Given the description of an element on the screen output the (x, y) to click on. 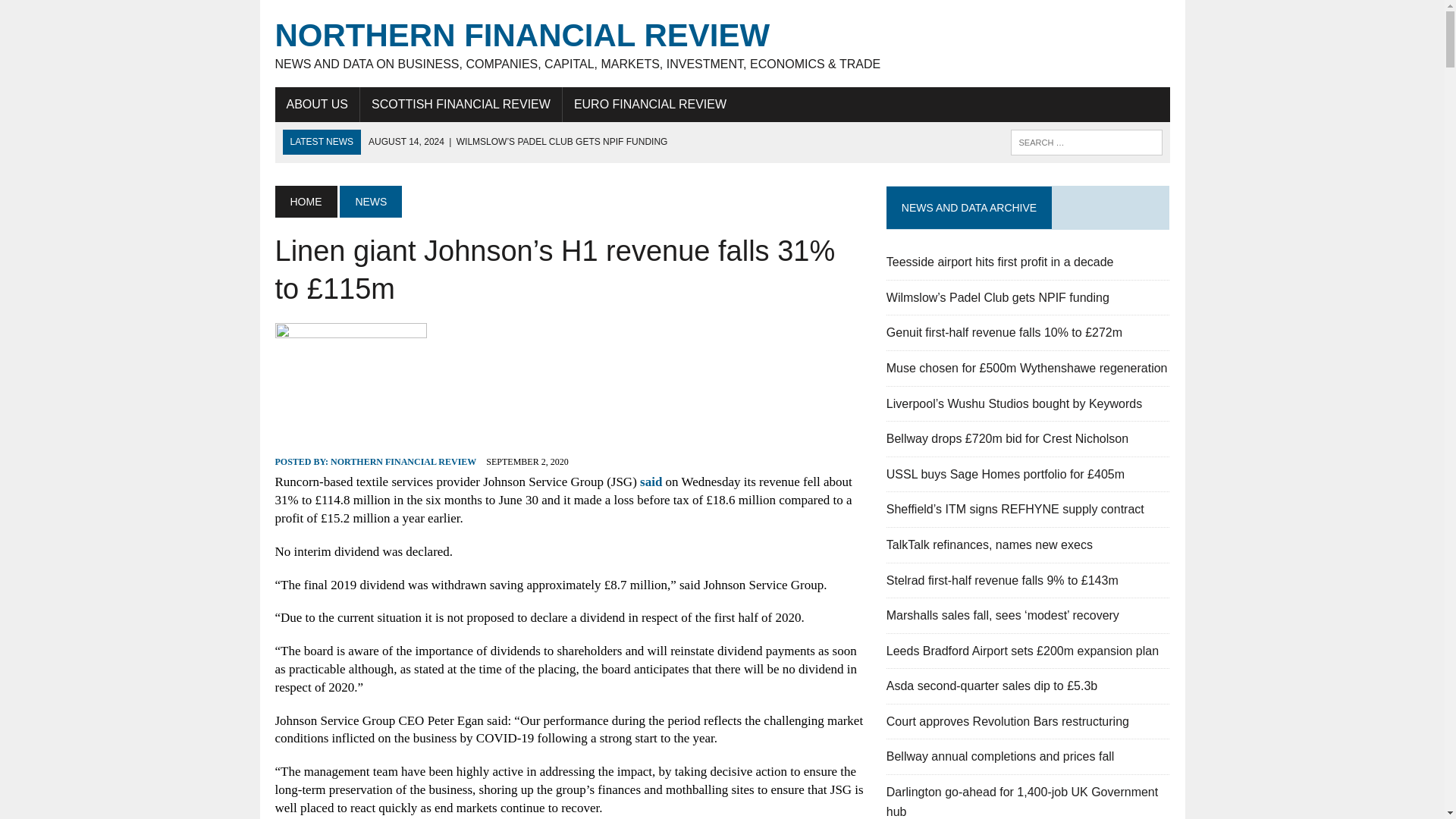
ABOUT US (317, 104)
NEWS (370, 201)
HOME (305, 201)
Search (75, 14)
NORTHERN FINANCIAL REVIEW (403, 461)
EURO FINANCIAL REVIEW (650, 104)
TalkTalk refinances, names new execs (989, 544)
SCOTTISH FINANCIAL REVIEW (460, 104)
said (651, 481)
Teesside airport hits first profit in a decade (999, 261)
